Given the description of an element on the screen output the (x, y) to click on. 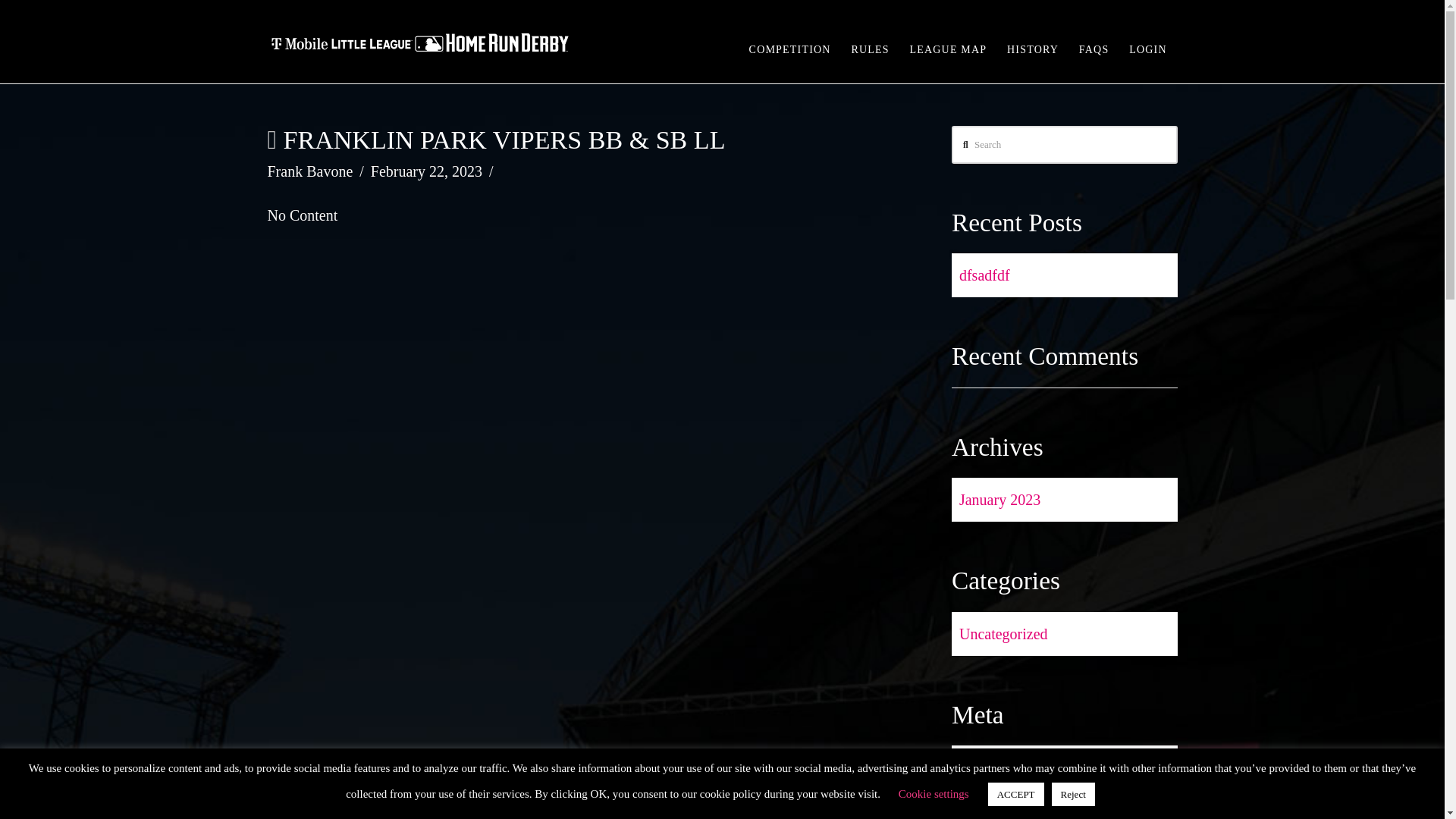
Log in (975, 767)
Entries feed (992, 810)
FAQS (1093, 41)
January 2023 (996, 499)
dfsadfdf (981, 274)
HISTORY (1032, 41)
COMPETITION (790, 41)
LOGIN (1147, 41)
Uncategorized (1000, 633)
RULES (870, 41)
LEAGUE MAP (948, 41)
